Given the description of an element on the screen output the (x, y) to click on. 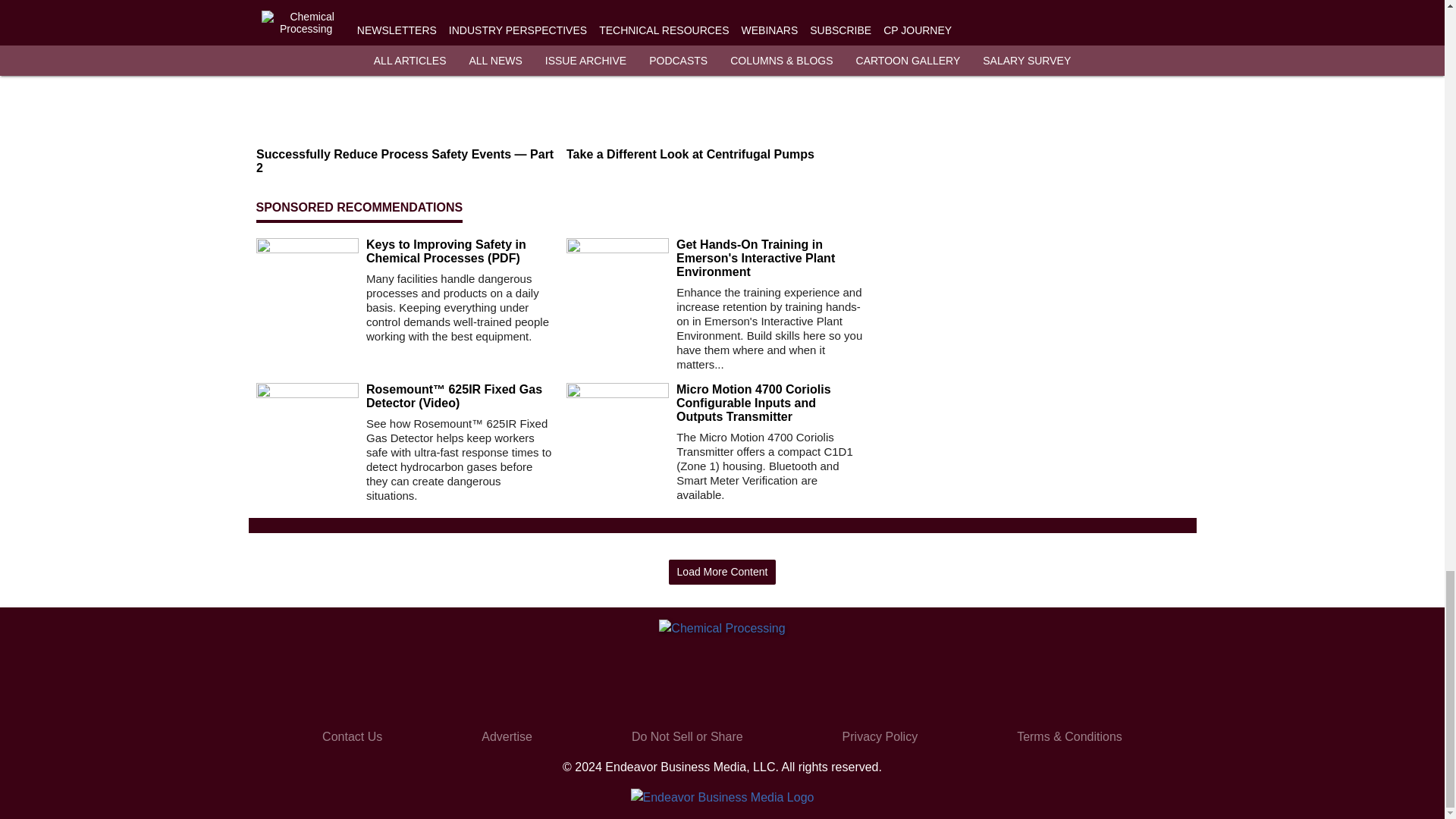
Take a Different Look at Centrifugal Pumps (715, 154)
